Given the description of an element on the screen output the (x, y) to click on. 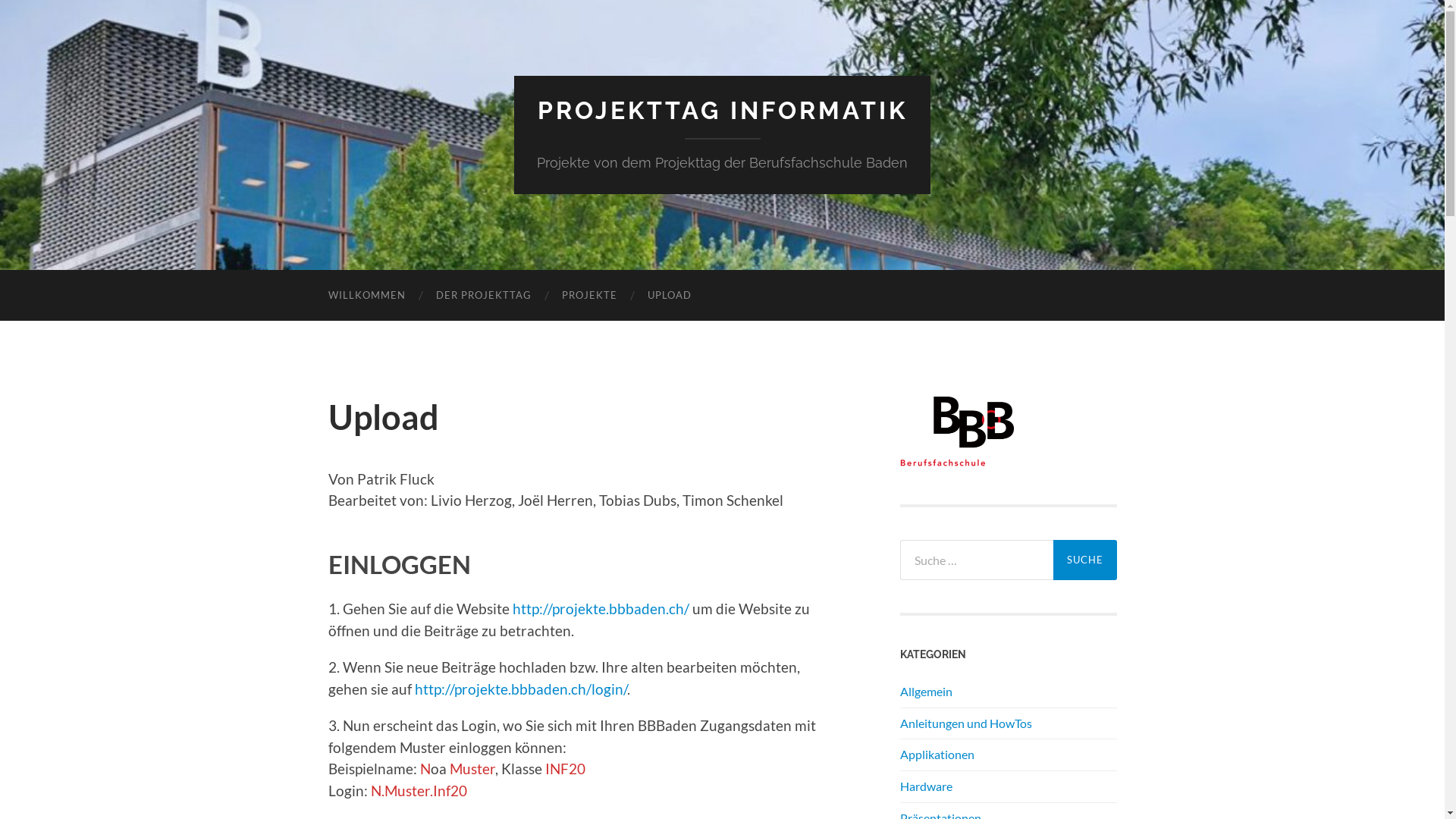
PROJEKTE Element type: text (588, 294)
Applikationen Element type: text (936, 753)
http://projekte.bbbaden.ch/ Element type: text (600, 608)
UPLOAD Element type: text (669, 294)
PROJEKTTAG INFORMATIK Element type: text (721, 110)
http://projekte.bbbaden.ch/login/ Element type: text (520, 688)
Suche Element type: text (1084, 559)
Allgemein Element type: text (925, 691)
Anleitungen und HowTos Element type: text (965, 722)
Hardware Element type: text (925, 785)
DER PROJEKTTAG Element type: text (483, 294)
WILLKOMMEN Element type: text (366, 294)
